Given the description of an element on the screen output the (x, y) to click on. 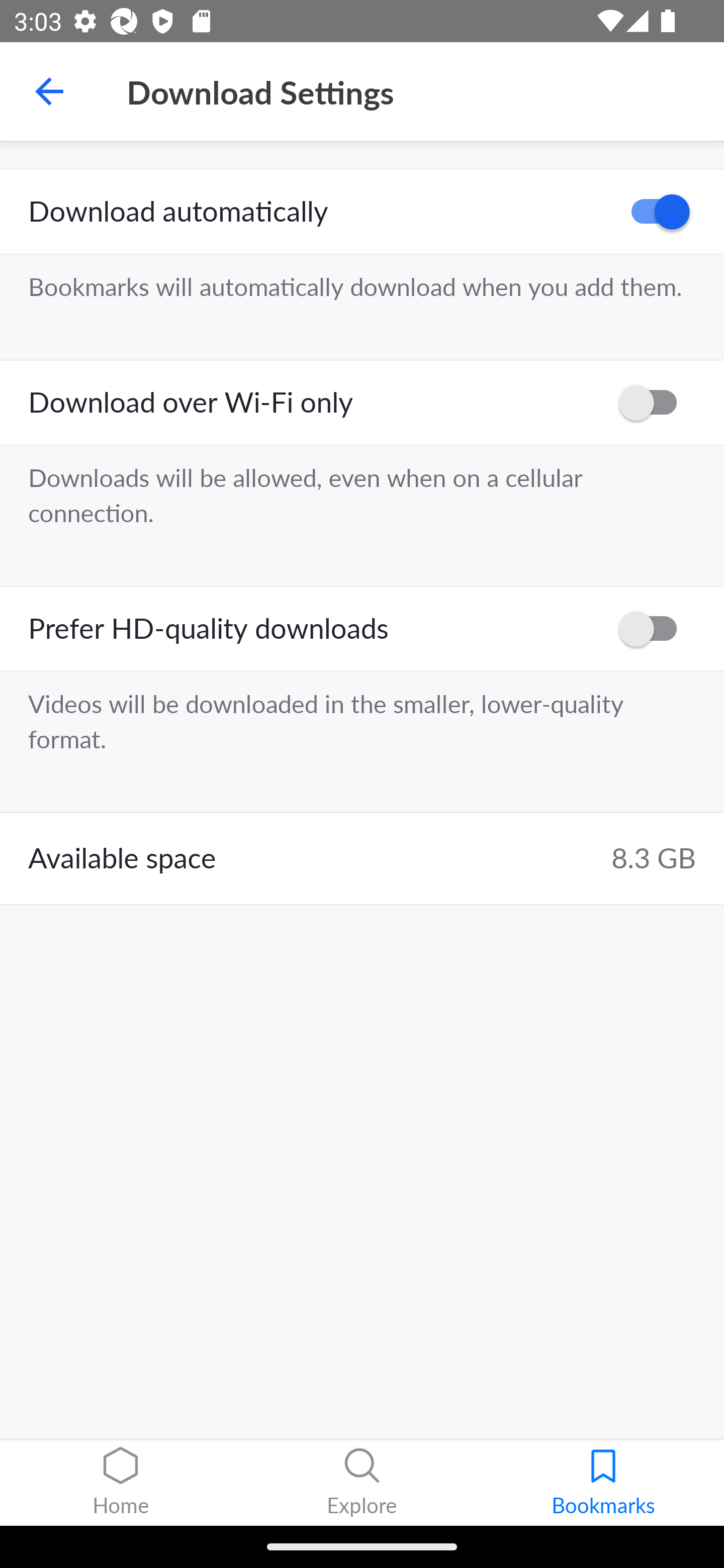
Navigate up (49, 91)
ON (653, 211)
OFF (653, 402)
OFF (653, 628)
Home (120, 1482)
Explore (361, 1482)
Bookmarks (603, 1482)
